Given the description of an element on the screen output the (x, y) to click on. 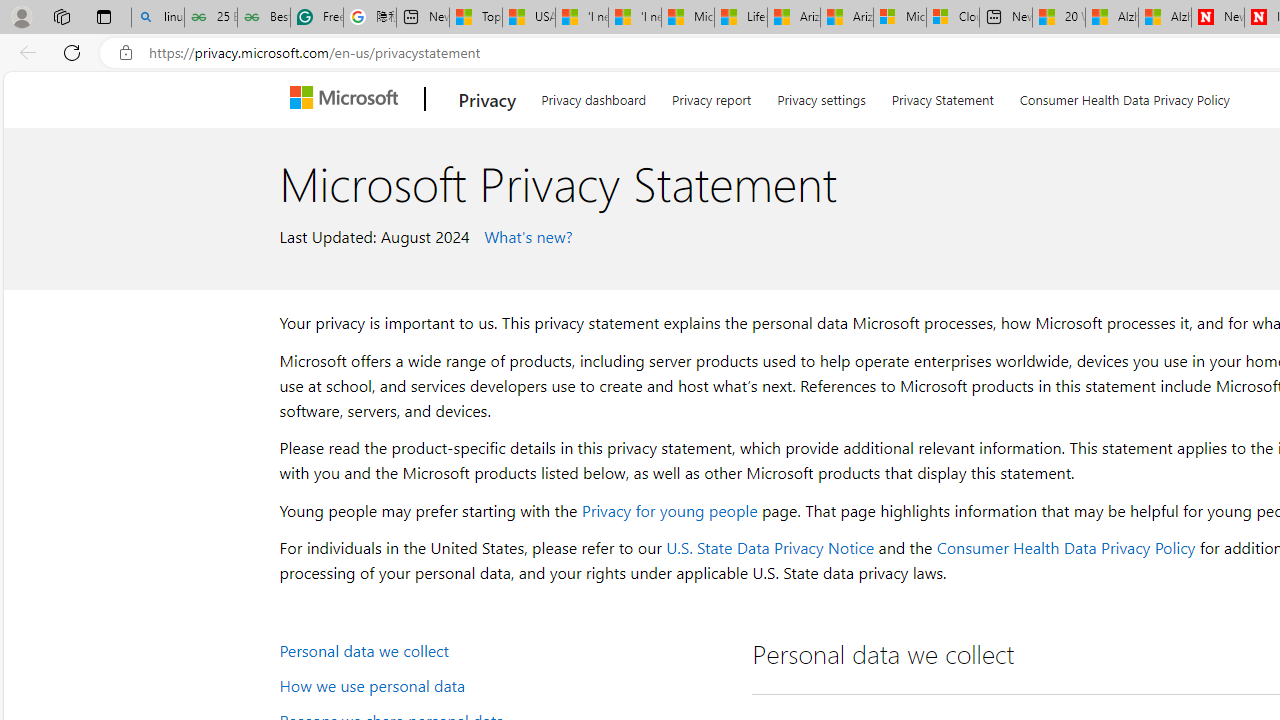
Consumer Health Data Privacy Policy (1124, 96)
Top Stories - MSN (475, 17)
Consumer Health Data Privacy Policy (1065, 547)
linux basic - Search (157, 17)
Privacy Statement (942, 96)
Lifestyle - MSN (740, 17)
